Given the description of an element on the screen output the (x, y) to click on. 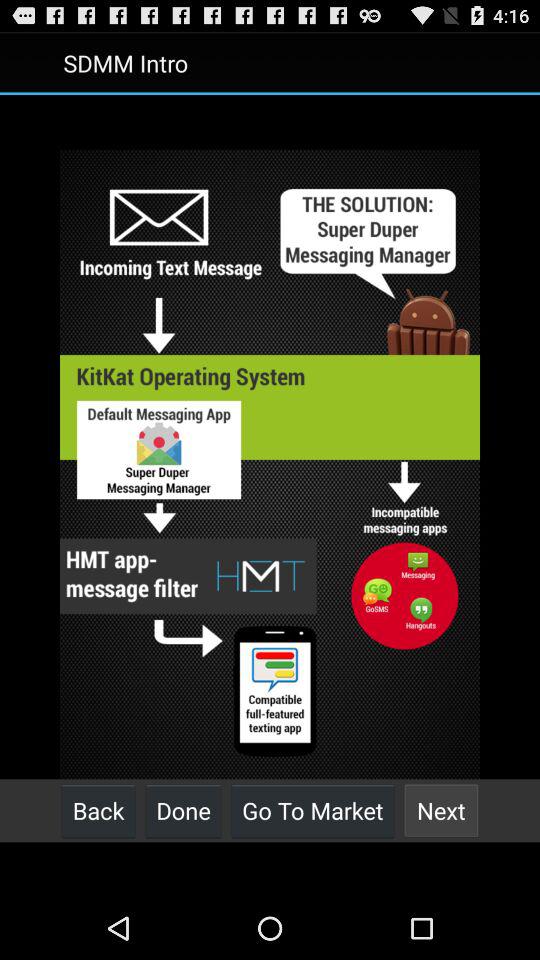
turn on button to the left of go to market icon (183, 810)
